Given the description of an element on the screen output the (x, y) to click on. 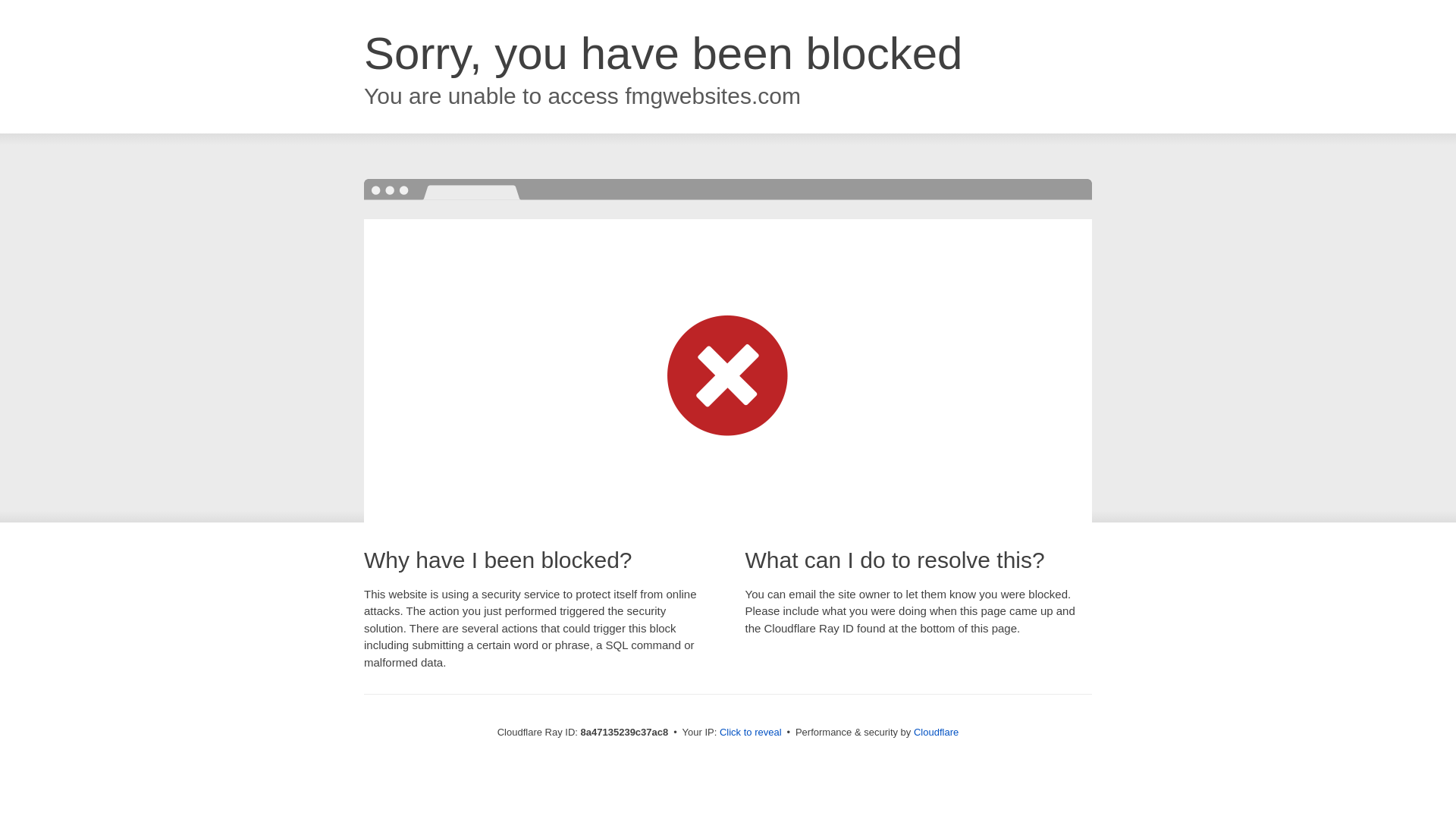
Cloudflare (936, 731)
Click to reveal (750, 732)
